Given the description of an element on the screen output the (x, y) to click on. 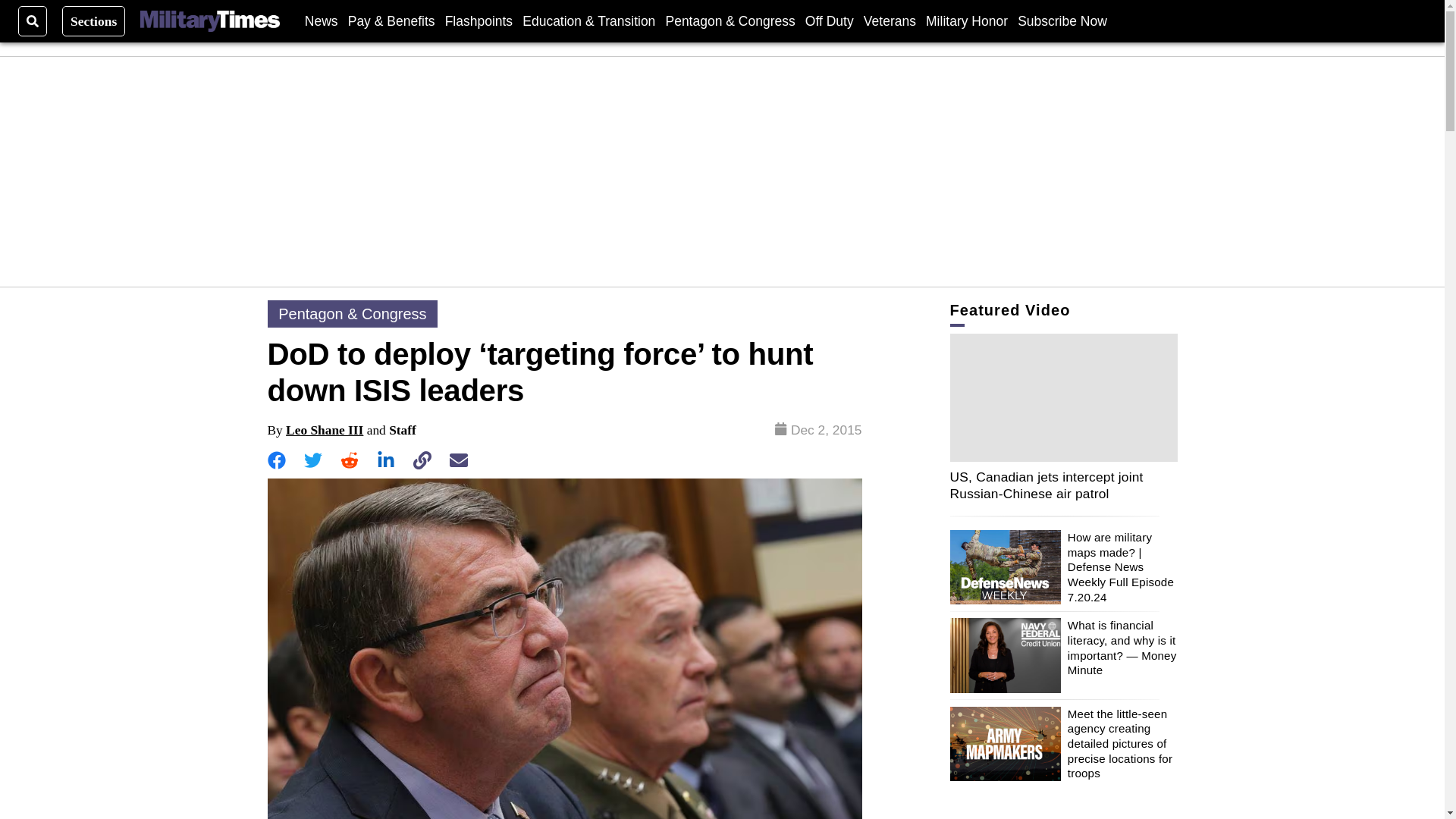
Military Times Logo (209, 20)
Sections (93, 20)
Flashpoints (479, 20)
Military Honor (966, 20)
Off Duty (829, 20)
Veterans (889, 20)
News (320, 20)
